Given the description of an element on the screen output the (x, y) to click on. 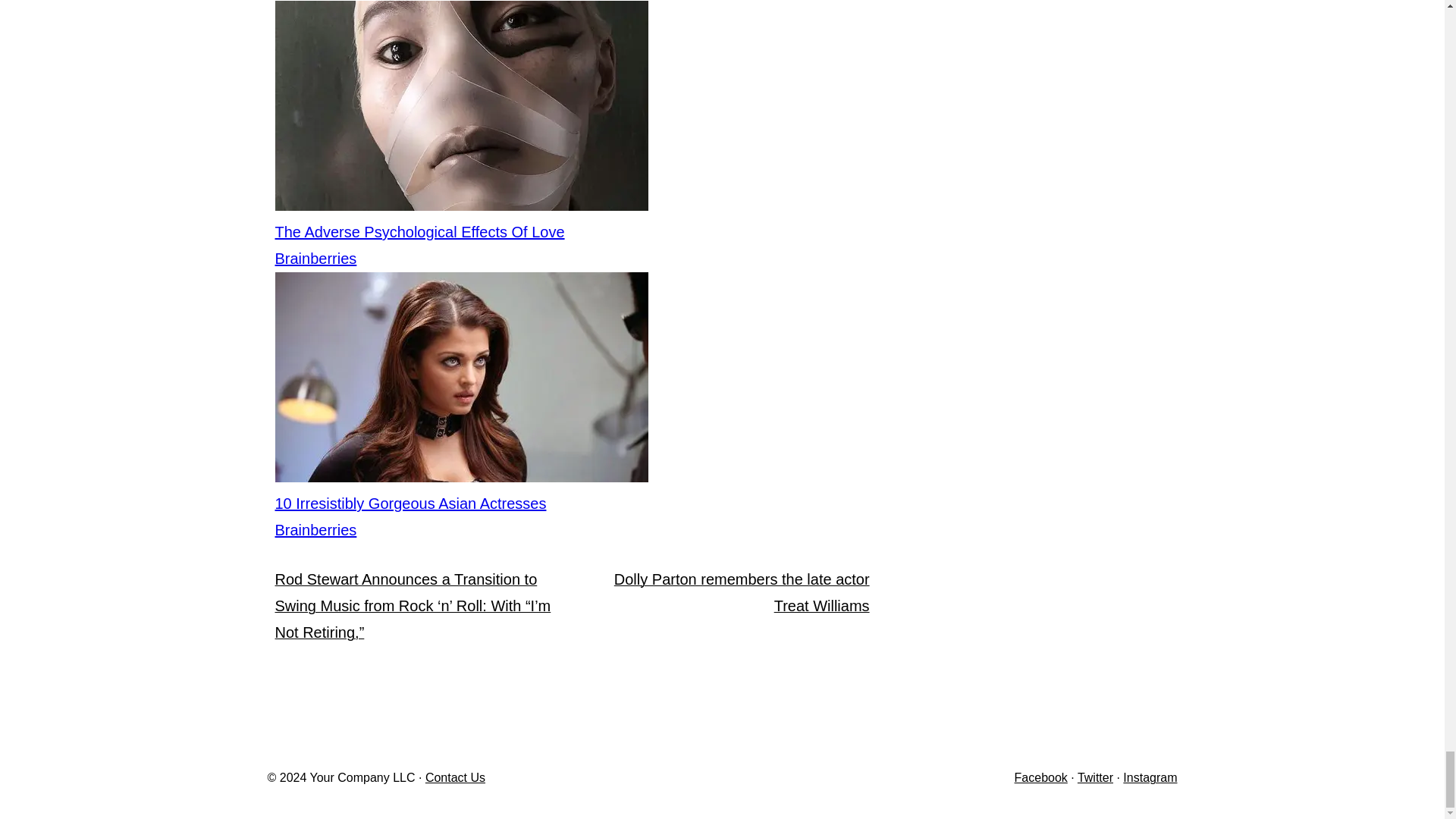
Instagram (1149, 777)
Contact Us (454, 777)
Twitter (1095, 777)
Dolly Parton remembers the late actor Treat Williams (741, 592)
Facebook (1040, 777)
